Given the description of an element on the screen output the (x, y) to click on. 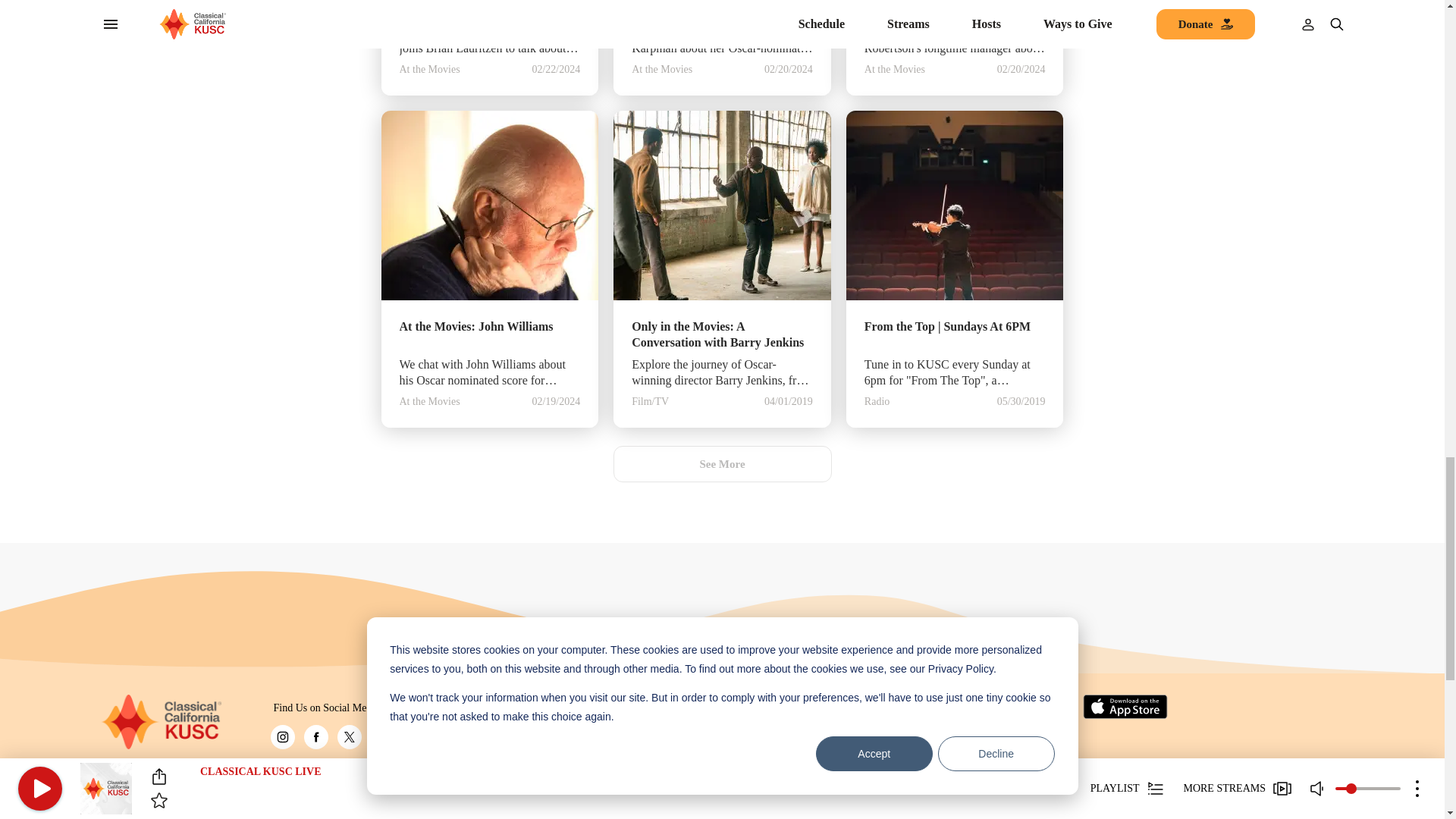
TWITTER (348, 736)
INSTAGRAM (281, 736)
YOUTUBE (381, 736)
HOME (160, 721)
DOWNLOAD IN GOOGLE PLAY (1031, 706)
DOWNLOAD IN APP STORE (1125, 706)
FACEBOOK (314, 736)
